Given the description of an element on the screen output the (x, y) to click on. 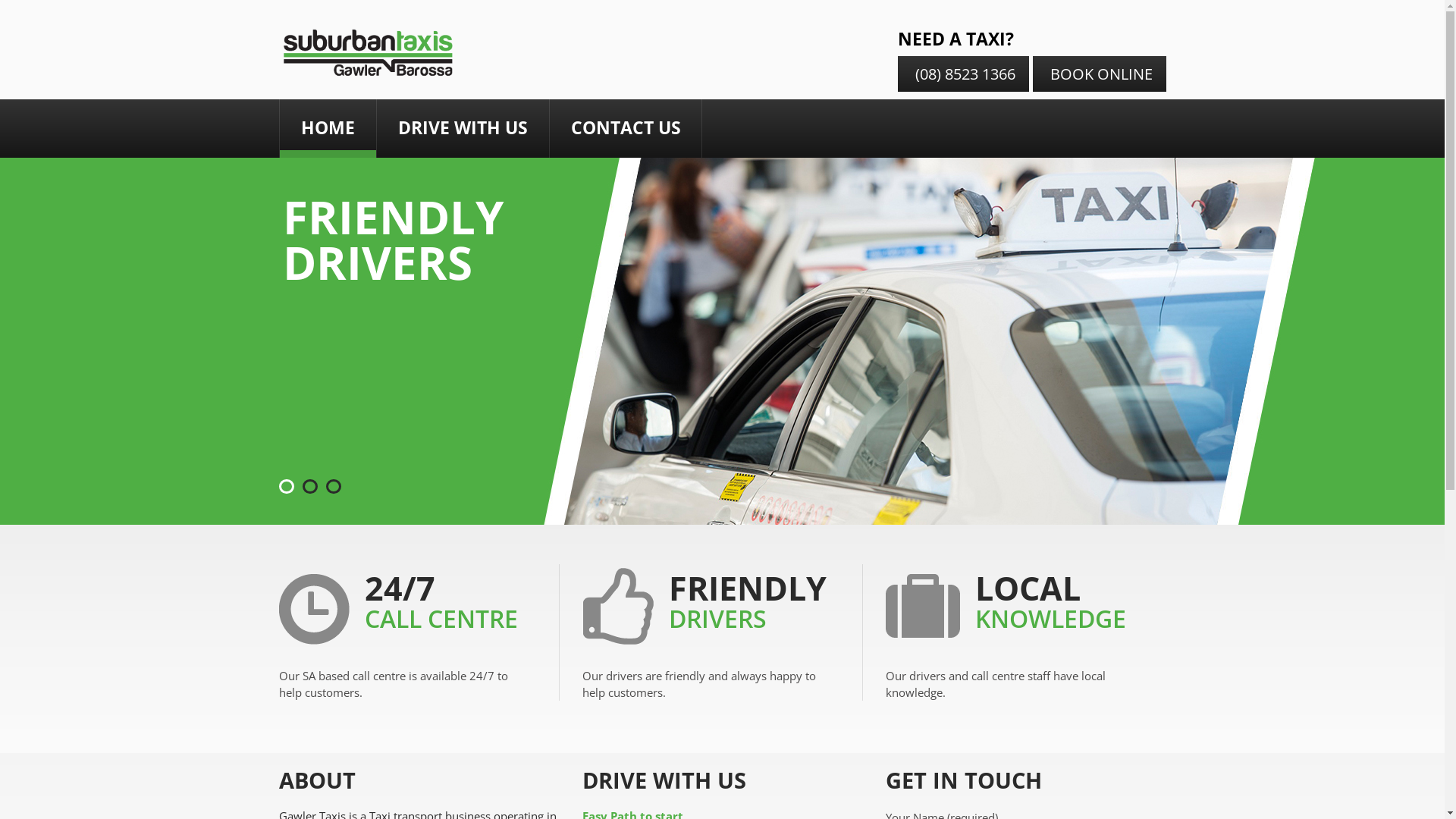
CONTACT US Element type: text (625, 128)
BOOK ONLINE Element type: text (1099, 73)
HOME Element type: text (327, 128)
DRIVE WITH US Element type: text (462, 128)
(08) 8523 1366 Element type: text (963, 73)
